Given the description of an element on the screen output the (x, y) to click on. 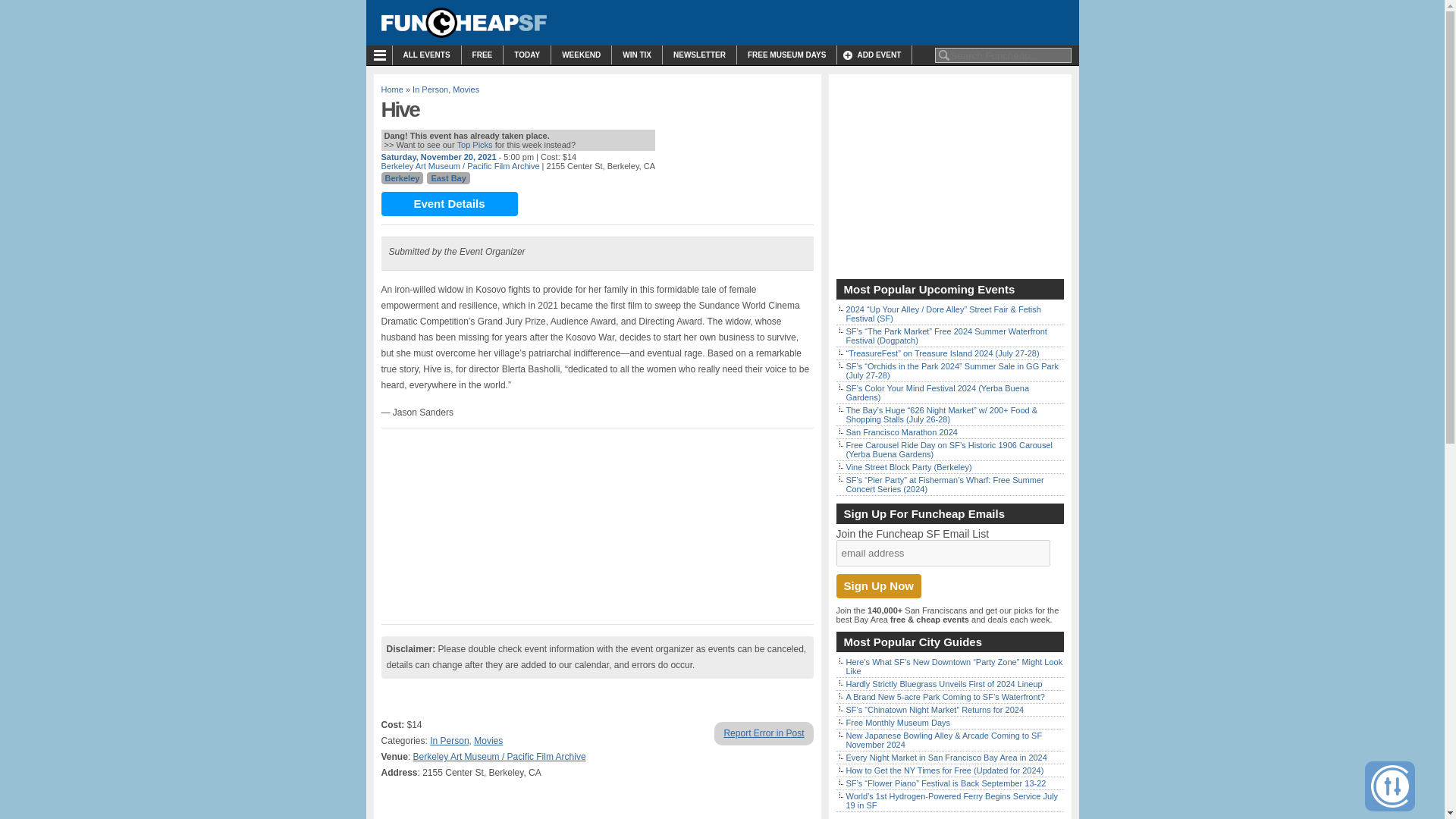
ALL EVENTS (427, 54)
Sign Up Now (878, 586)
WIN TIX (636, 54)
Sub-Menu Toggle (381, 55)
TODAY (526, 54)
FREE (482, 54)
Home (391, 89)
3rd party ad content (948, 176)
San Francisco Marathon 2024 (901, 431)
In Person (430, 89)
ADD EVENT (874, 54)
FREE MUSEUM DAYS (786, 54)
Hardly Strictly Bluegrass Unveils First of 2024 Lineup (943, 683)
NEWSLETTER (699, 54)
WEEKEND (581, 54)
